Given the description of an element on the screen output the (x, y) to click on. 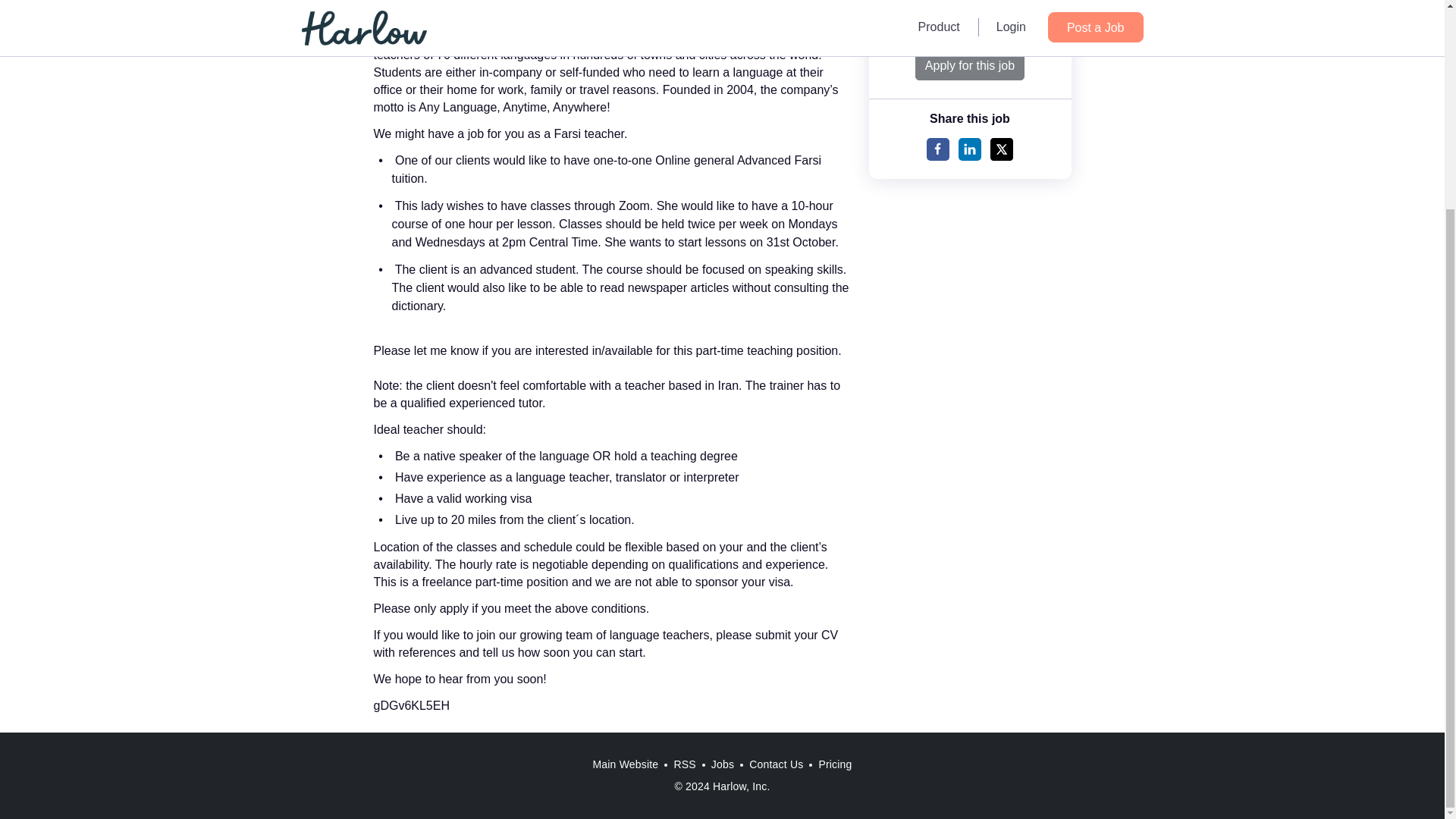
Contact Us (775, 764)
Language Trainers (969, 31)
Jobs (722, 764)
RSS (684, 764)
Apply for this job (970, 65)
Pricing (834, 764)
Share to Twitter (1001, 149)
Share to FB (937, 149)
Main Website (625, 764)
Share to Linkedin (969, 149)
